Given the description of an element on the screen output the (x, y) to click on. 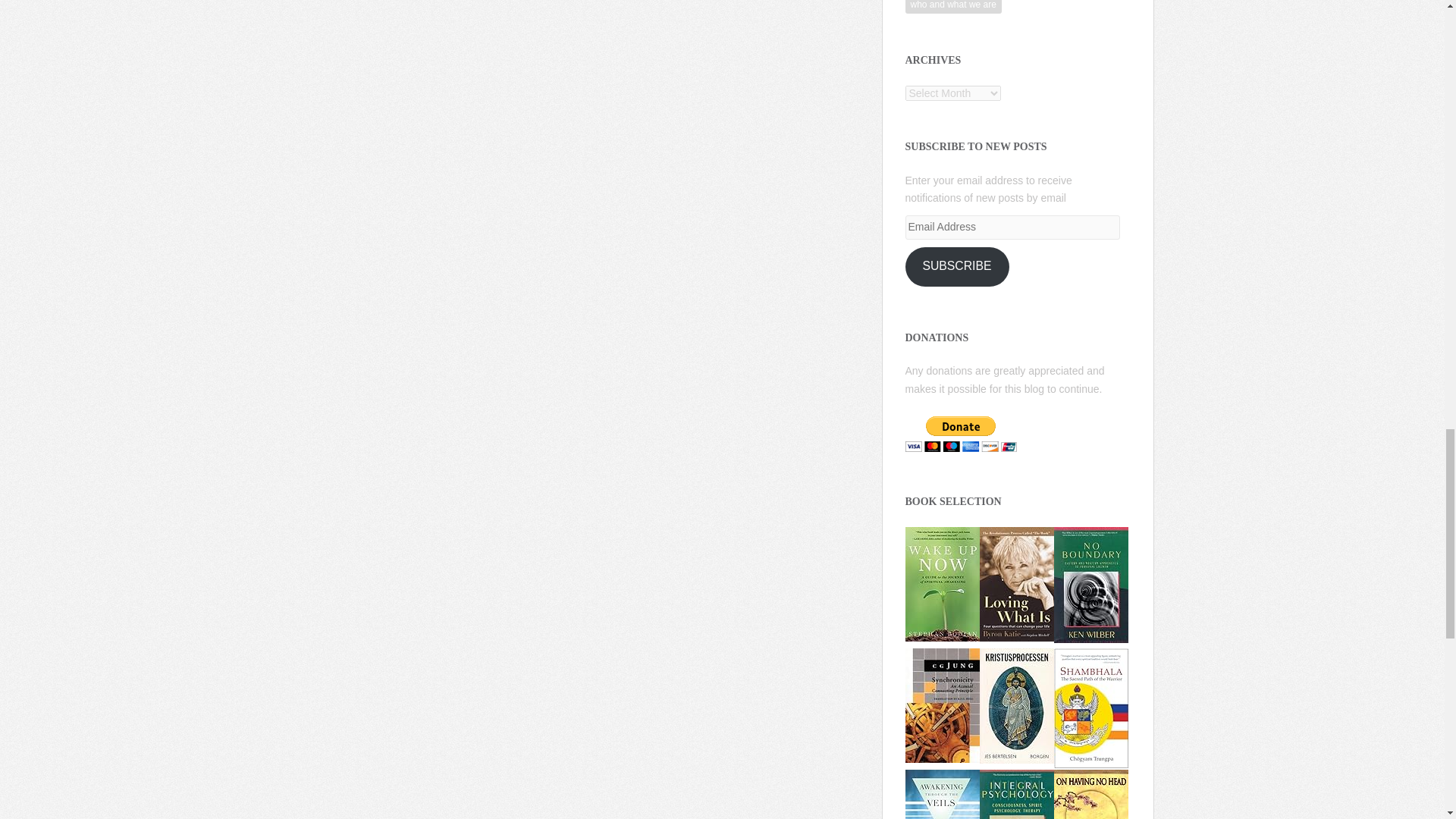
Kristusprocessen (1016, 704)
Awakening Through the Veils: A Seeker's Guide (942, 817)
PayPal - The safer, easier way to pay online! (960, 434)
Loving What Is: Four Questions That Can Change Your Life (1016, 582)
Shambhala: The Sacred Path of the Warrior (1091, 706)
Synchronicity: An Acausal Connecting Principle (942, 704)
Wake Up Now: A Guide to the Journey of Spiritual Awakening (942, 582)
